Given the description of an element on the screen output the (x, y) to click on. 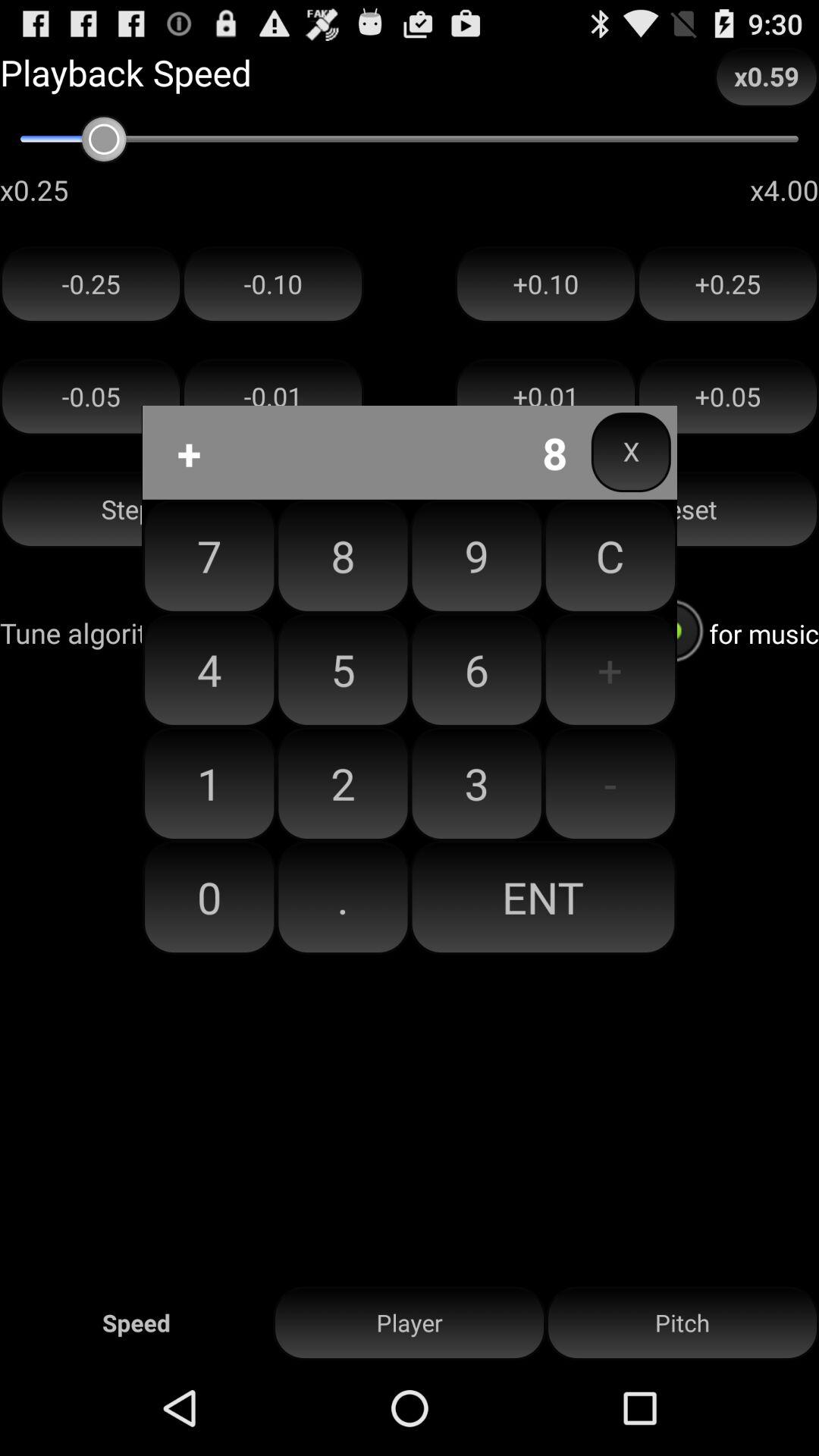
turn on button below 8 item (476, 669)
